Given the description of an element on the screen output the (x, y) to click on. 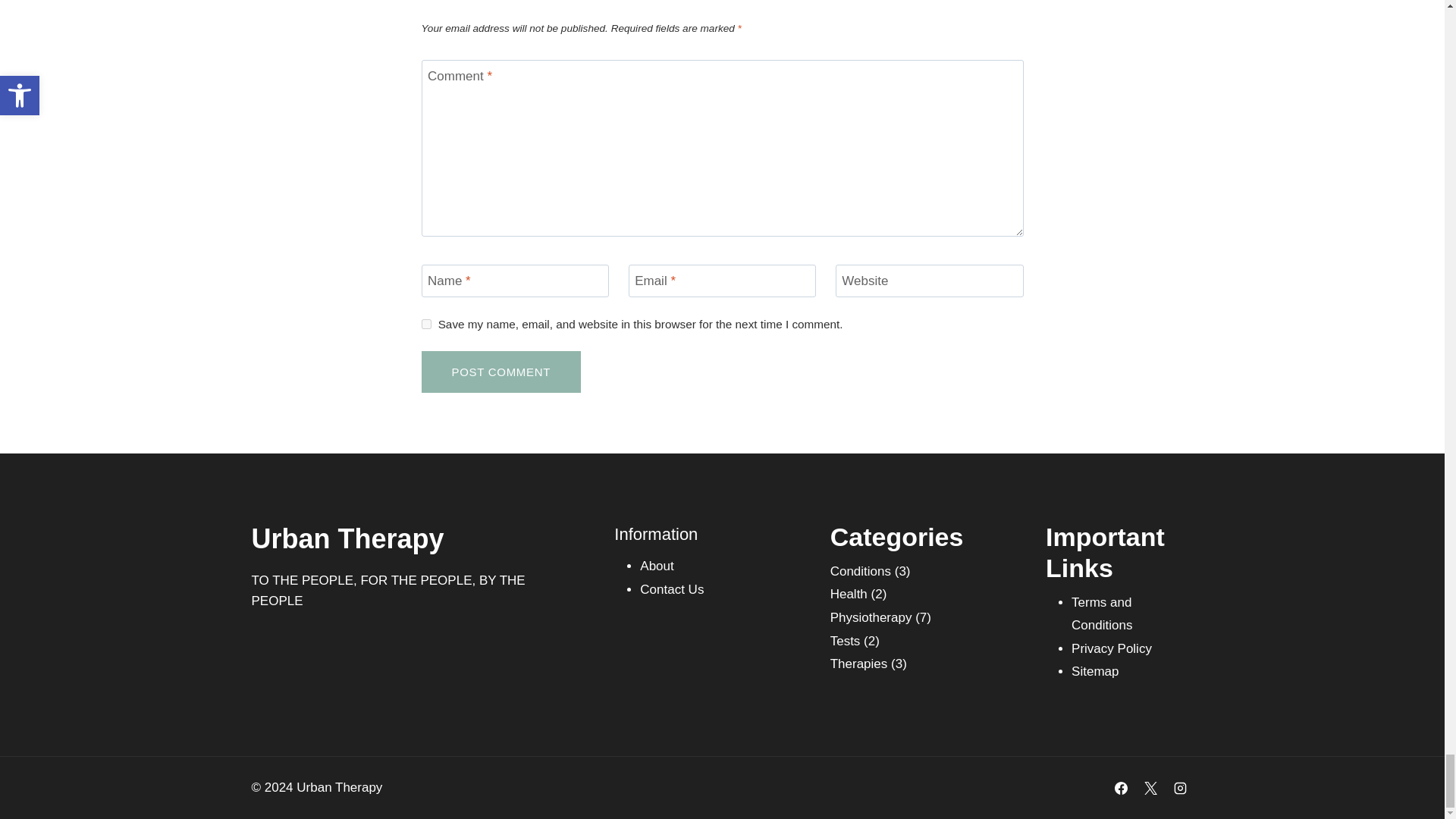
yes (426, 324)
Post Comment (501, 372)
